Given the description of an element on the screen output the (x, y) to click on. 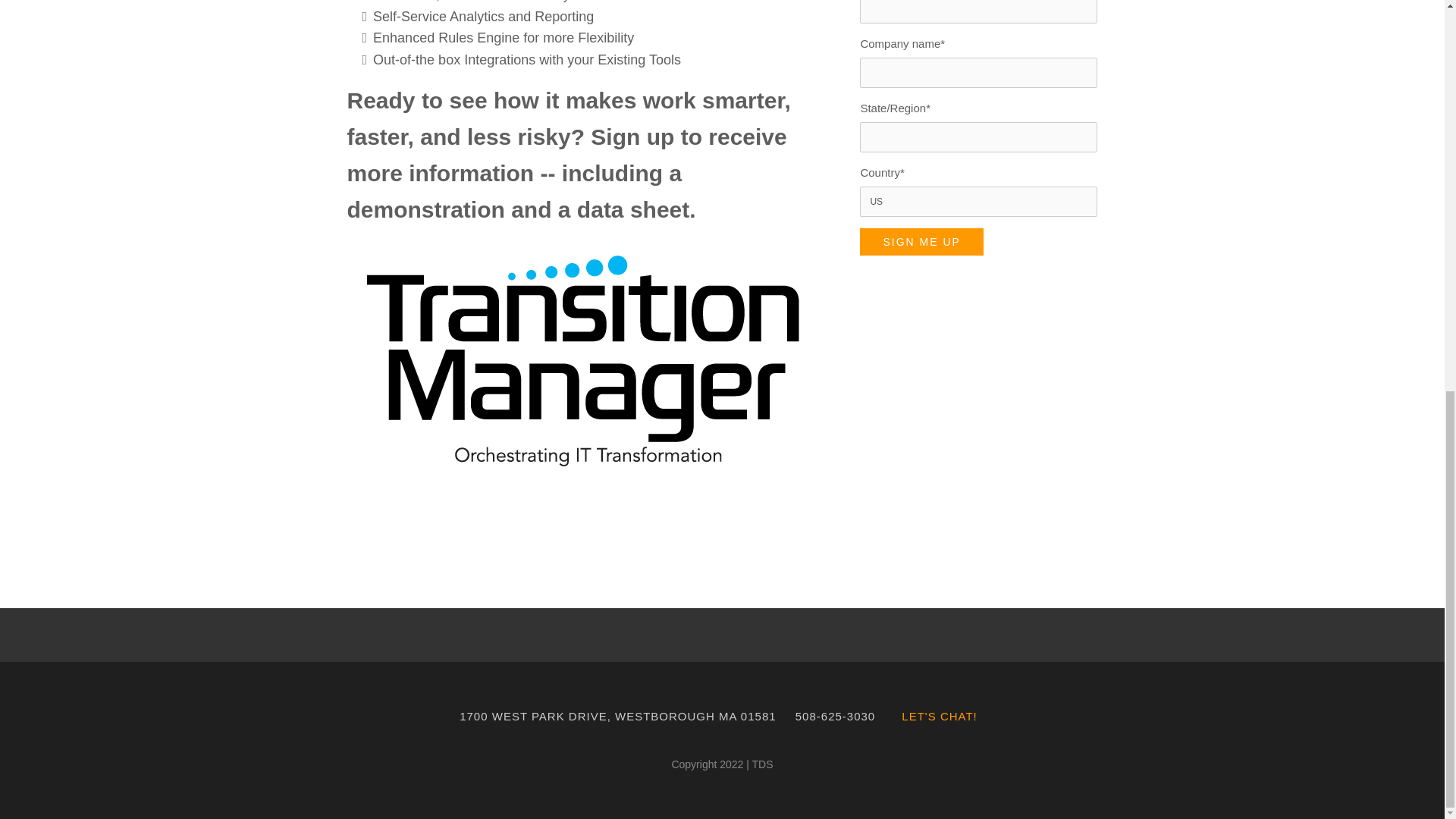
LET'S CHAT! (938, 716)
US (978, 201)
Sign me up (921, 241)
Sign me up (921, 241)
